Given the description of an element on the screen output the (x, y) to click on. 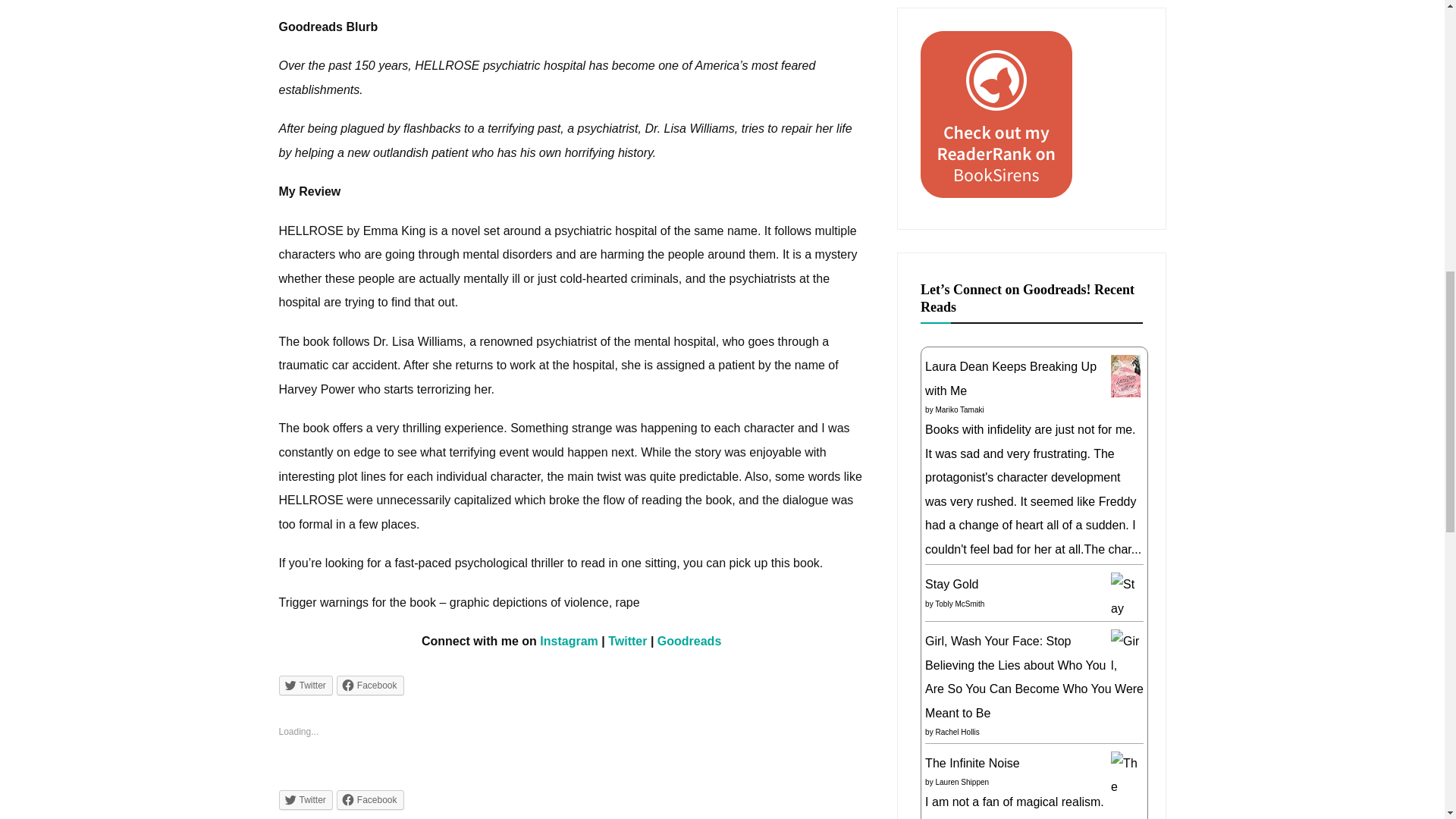
Facebook (370, 685)
Click to share on Facebook (370, 685)
Click to share on Twitter (306, 685)
Instagram (568, 640)
Click to share on Facebook (370, 799)
Twitter (306, 685)
Facebook (370, 799)
Twitter (627, 640)
Twitter (306, 799)
Stay Gold (1125, 631)
Laura Dean Keeps Breaking Up with Me (1125, 392)
Goodreads (689, 640)
Click to share on Twitter (306, 799)
